Given the description of an element on the screen output the (x, y) to click on. 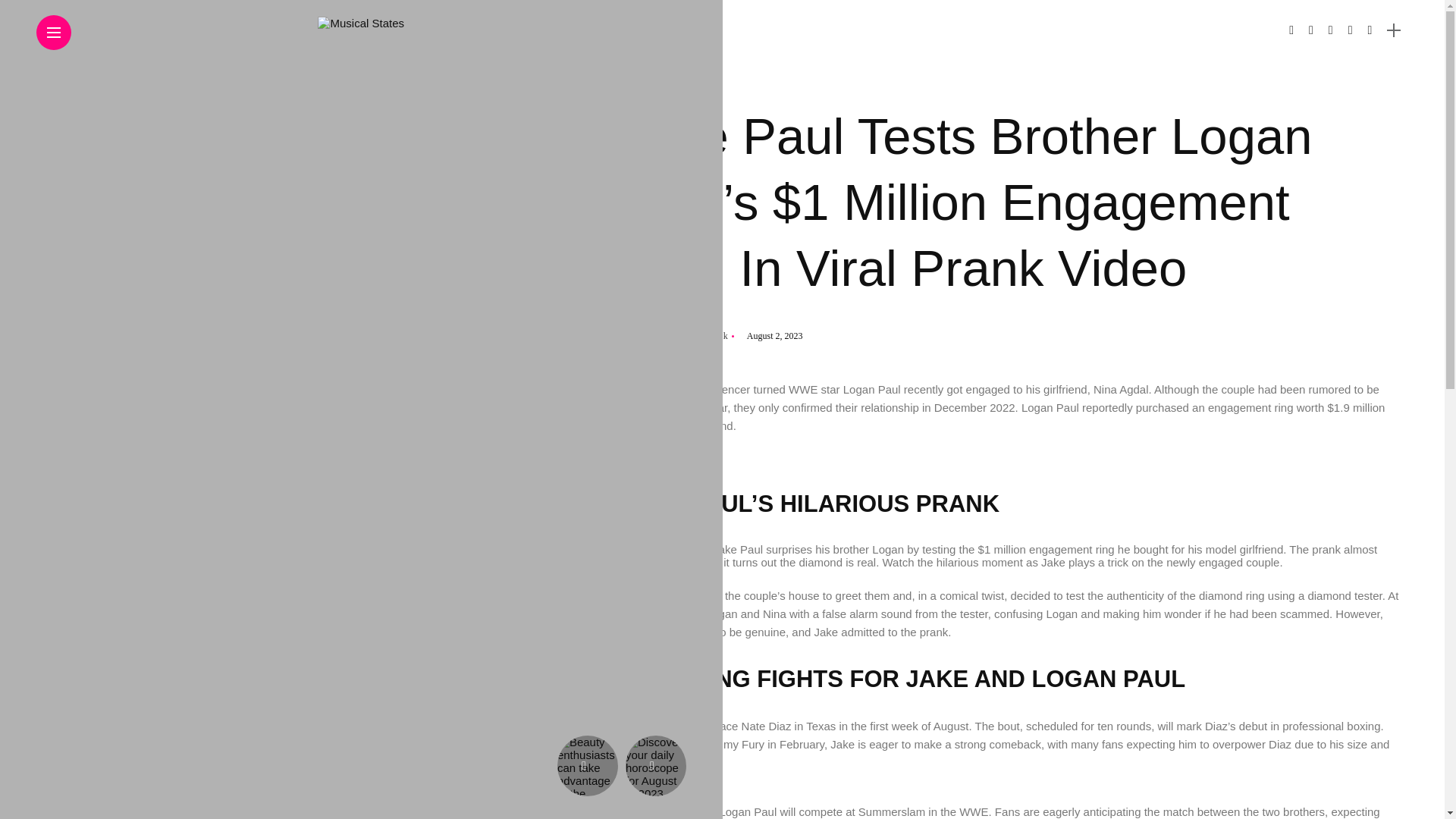
Posts by Editorial Desk (697, 335)
